Given the description of an element on the screen output the (x, y) to click on. 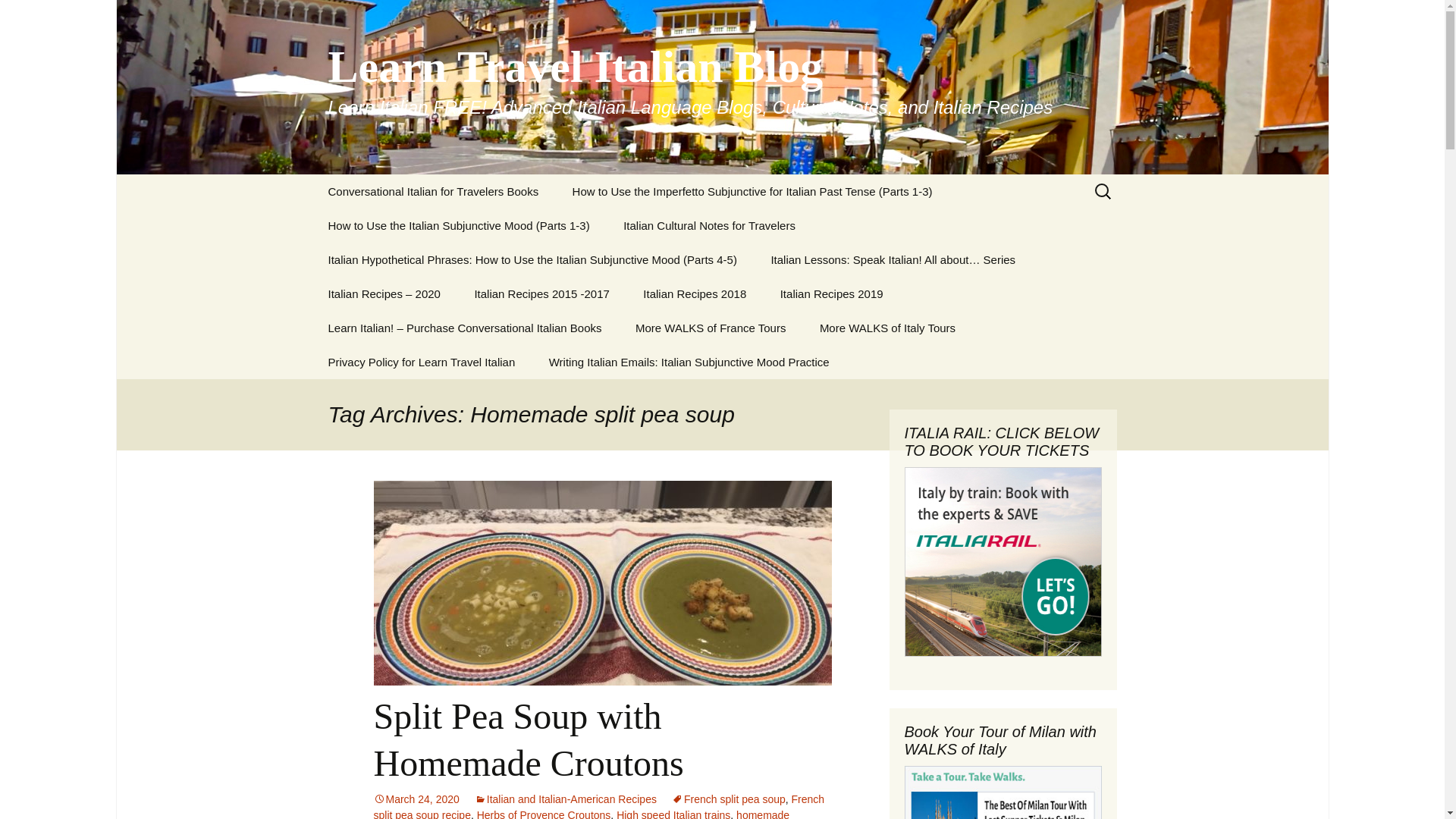
More WALKS of France Tours (710, 327)
March 24, 2020 (415, 799)
Writing Italian Emails: Italian Subjunctive Mood Practice (689, 361)
Italian Cultural Notes for Travelers (709, 225)
Conversational Italian for Travelers Books (433, 191)
French split pea soup recipe (598, 806)
Italian Recipes 2015 -2017 (541, 293)
High speed Italian trains (672, 814)
French split pea soup (728, 799)
Split Pea Soup with Homemade Croutons (527, 739)
Italian Recipes 2019 (831, 293)
homemade croutons (580, 814)
More WALKS of Italy Tours (888, 327)
